Given the description of an element on the screen output the (x, y) to click on. 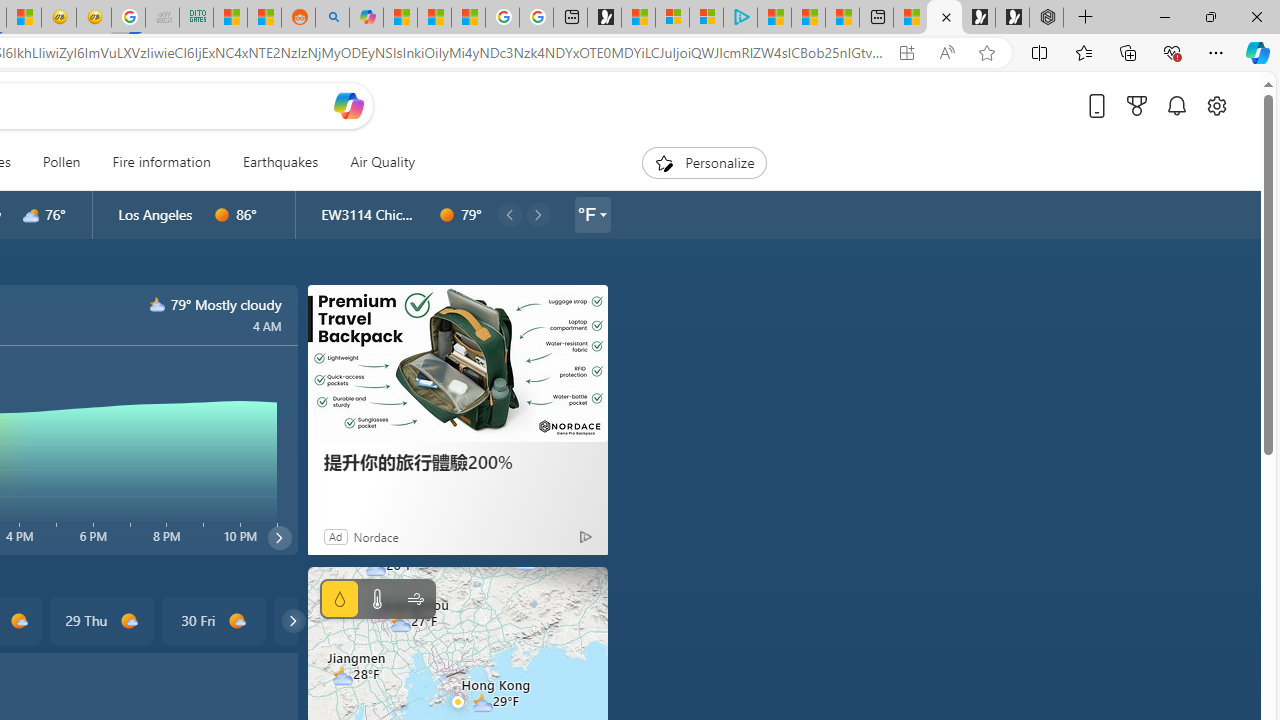
Pollen (61, 162)
These 3 Stocks Pay You More Than 5% to Own Them (841, 17)
Pollen (61, 162)
n3000 (157, 303)
common/carouselChevron (293, 620)
Wind (414, 599)
